Given the description of an element on the screen output the (x, y) to click on. 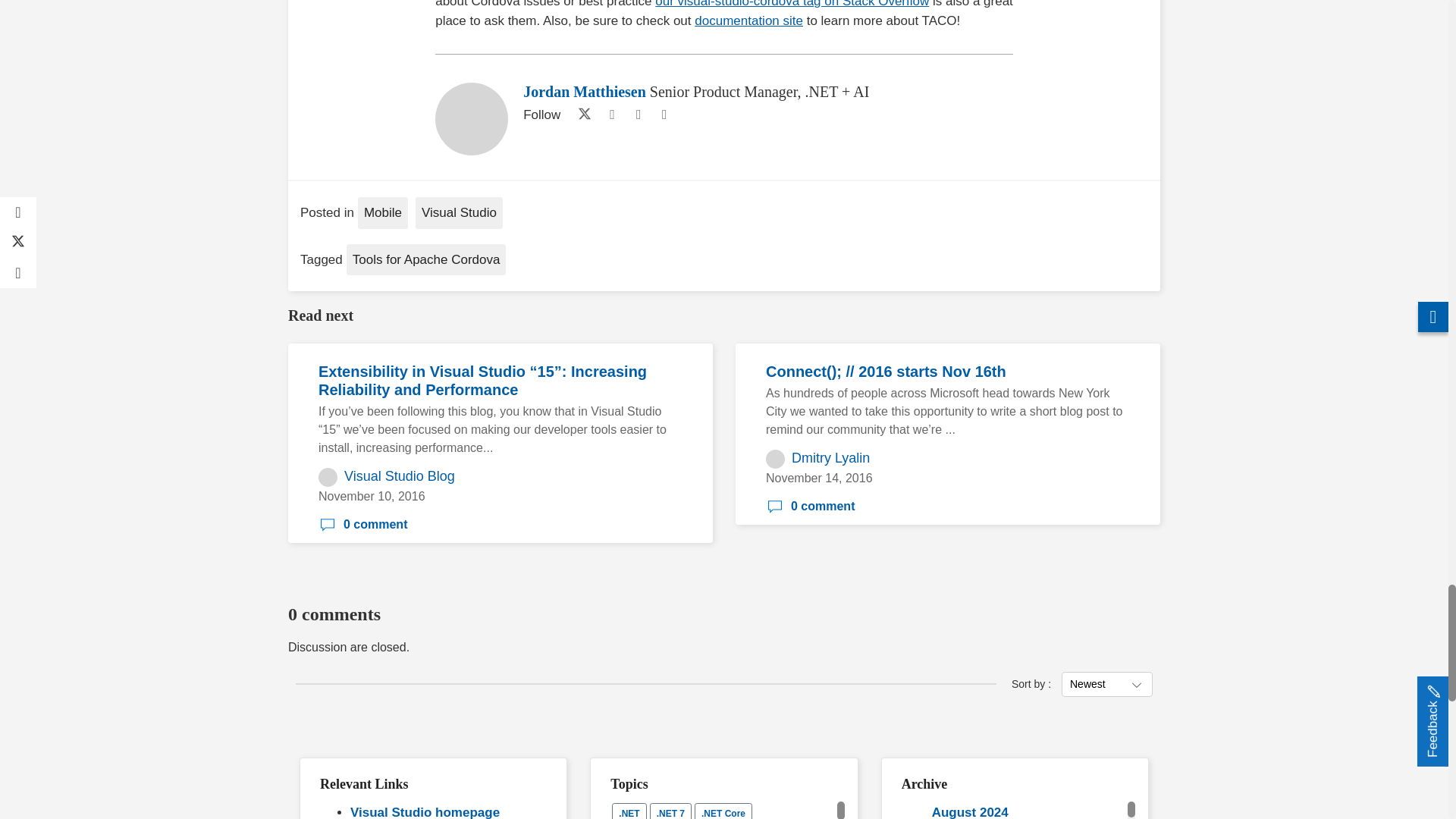
Github (637, 114)
Twitter (581, 114)
RSS Feed (664, 114)
Linkedin (611, 114)
